Given the description of an element on the screen output the (x, y) to click on. 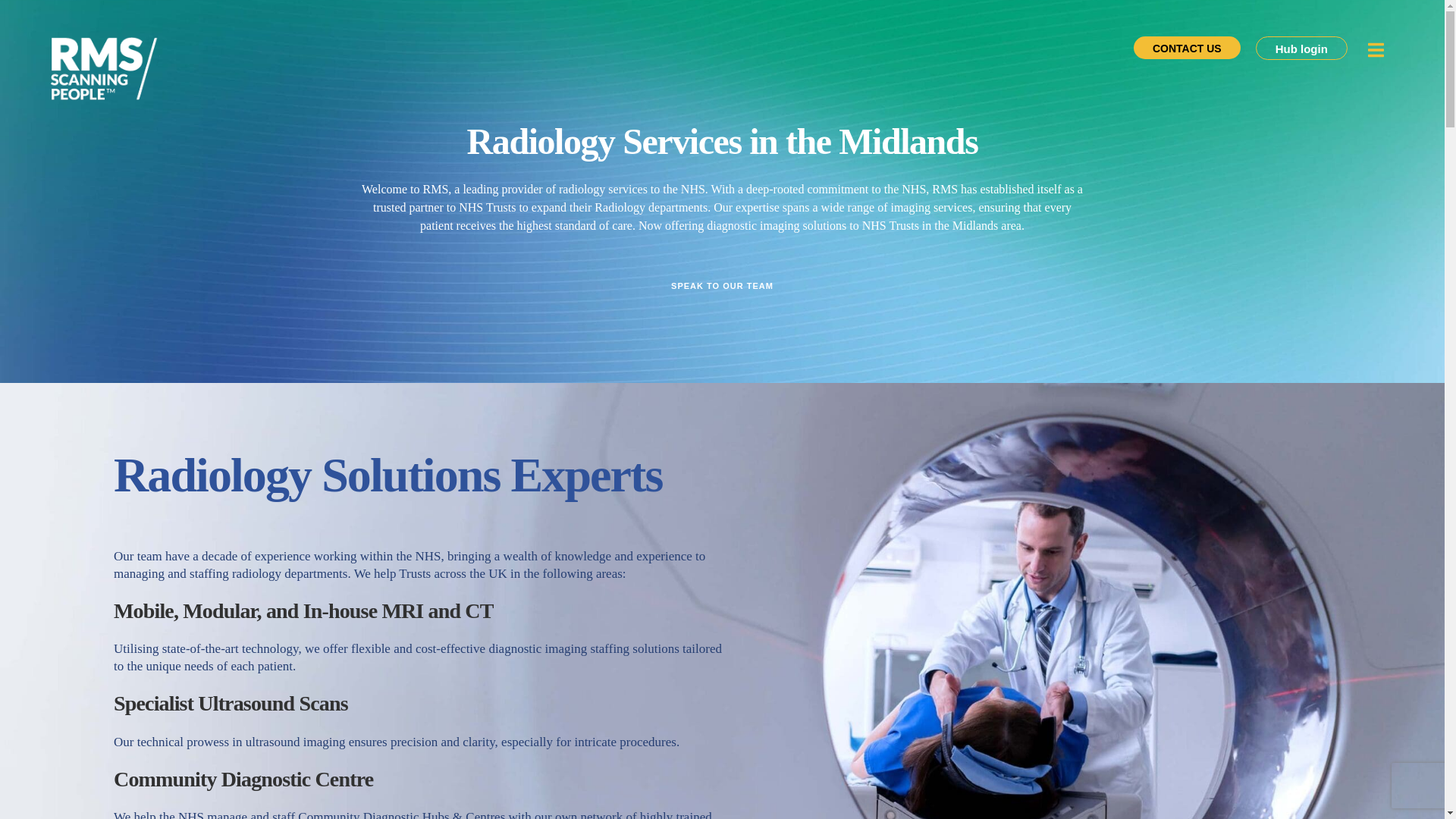
Contact (722, 285)
Hub login (1301, 47)
SPEAK TO OUR TEAM (722, 285)
CONTACT US (1187, 47)
